Given the description of an element on the screen output the (x, y) to click on. 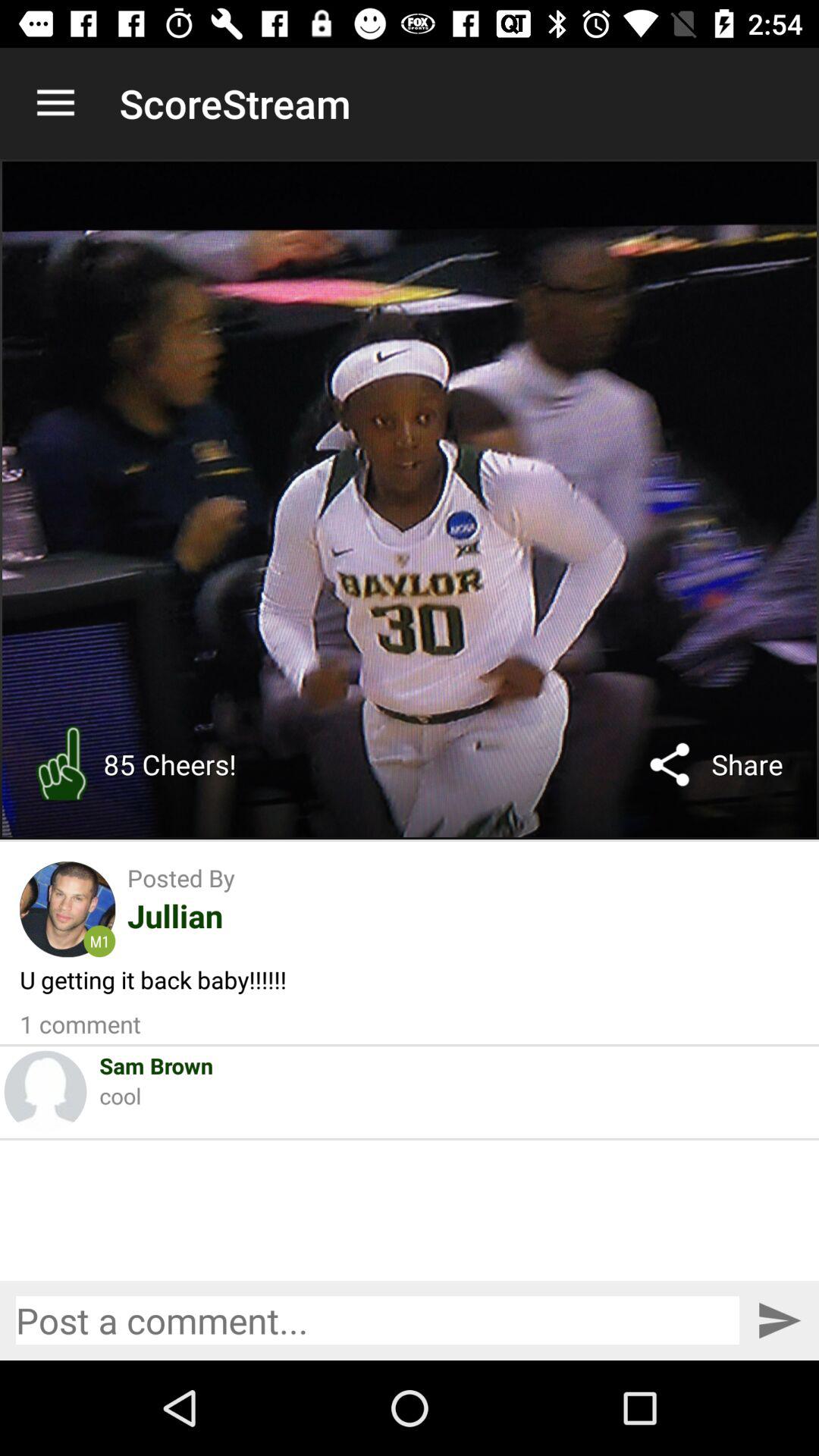
go post this comment (779, 1320)
